Given the description of an element on the screen output the (x, y) to click on. 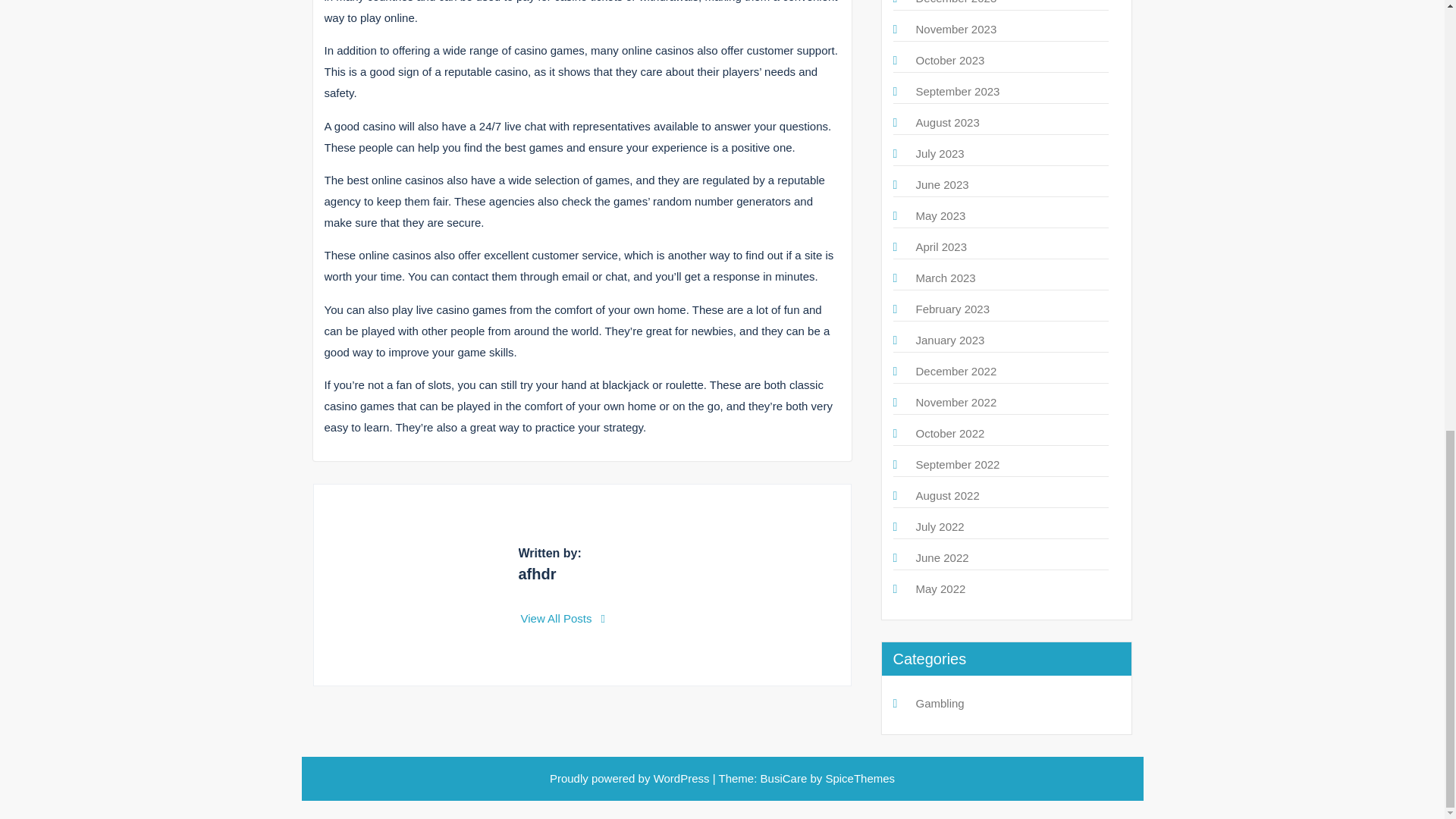
June 2022 (942, 557)
April 2023 (941, 246)
March 2023 (945, 277)
November 2023 (956, 29)
October 2022 (950, 432)
November 2022 (956, 401)
December 2023 (956, 2)
September 2023 (957, 91)
July 2023 (939, 153)
September 2022 (957, 463)
